Given the description of an element on the screen output the (x, y) to click on. 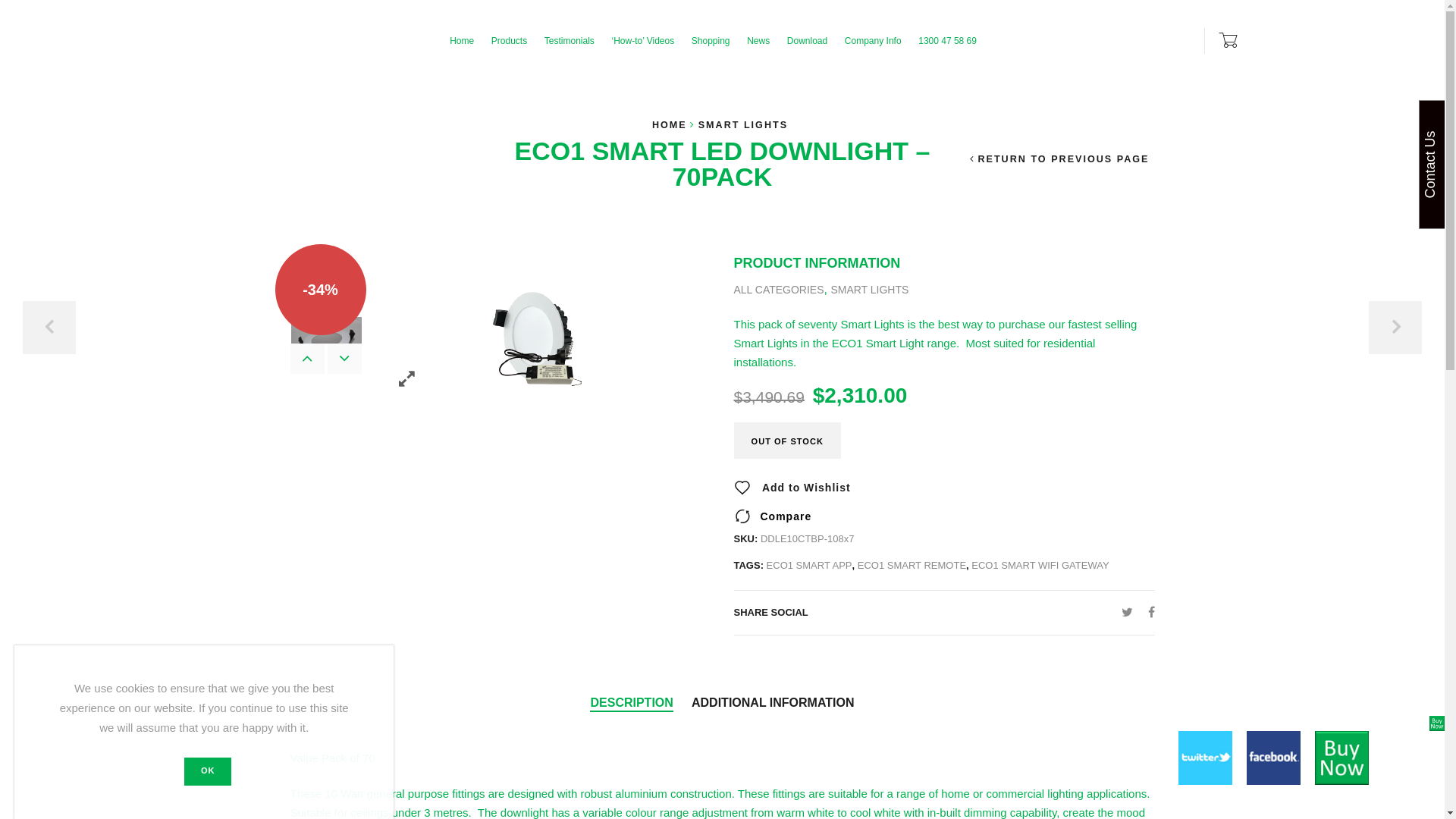
PREVIOUS Element type: text (48, 327)
ECO1 SMART APP Element type: text (809, 565)
Compare Element type: text (773, 516)
HOME Element type: text (669, 124)
RETURN TO PREVIOUS PAGE Element type: text (1059, 159)
News Element type: text (758, 40)
G-Smart Pg2 Products DDLE10 Element type: hover (326, 277)
Twitter Element type: hover (1126, 612)
Shopping Element type: text (710, 40)
Add to Wishlist Element type: text (792, 487)
DESCRIPTION Element type: text (631, 703)
ECO1 SMART REMOTE Element type: text (911, 565)
NEXT Element type: text (1394, 327)
Facebook Element type: hover (1147, 612)
ALL CATEGORIES Element type: text (779, 289)
G-Smart Pg2 Products DDLE10 Element type: hover (542, 342)
ADDITIONAL INFORMATION Element type: text (773, 703)
Products Element type: text (509, 40)
1300 47 58 69 Element type: text (947, 40)
SMART LIGHTS Element type: text (742, 124)
OK Element type: text (207, 771)
IMG_1633 Element type: hover (326, 341)
ECO1 SMART WIFI GATEWAY Element type: text (1039, 565)
SMART LIGHTS Element type: text (869, 289)
Home Element type: text (461, 40)
Zoom images Element type: text (406, 378)
Download Element type: text (807, 40)
Testimonials Element type: text (569, 40)
Company Info Element type: text (872, 40)
